Given the description of an element on the screen output the (x, y) to click on. 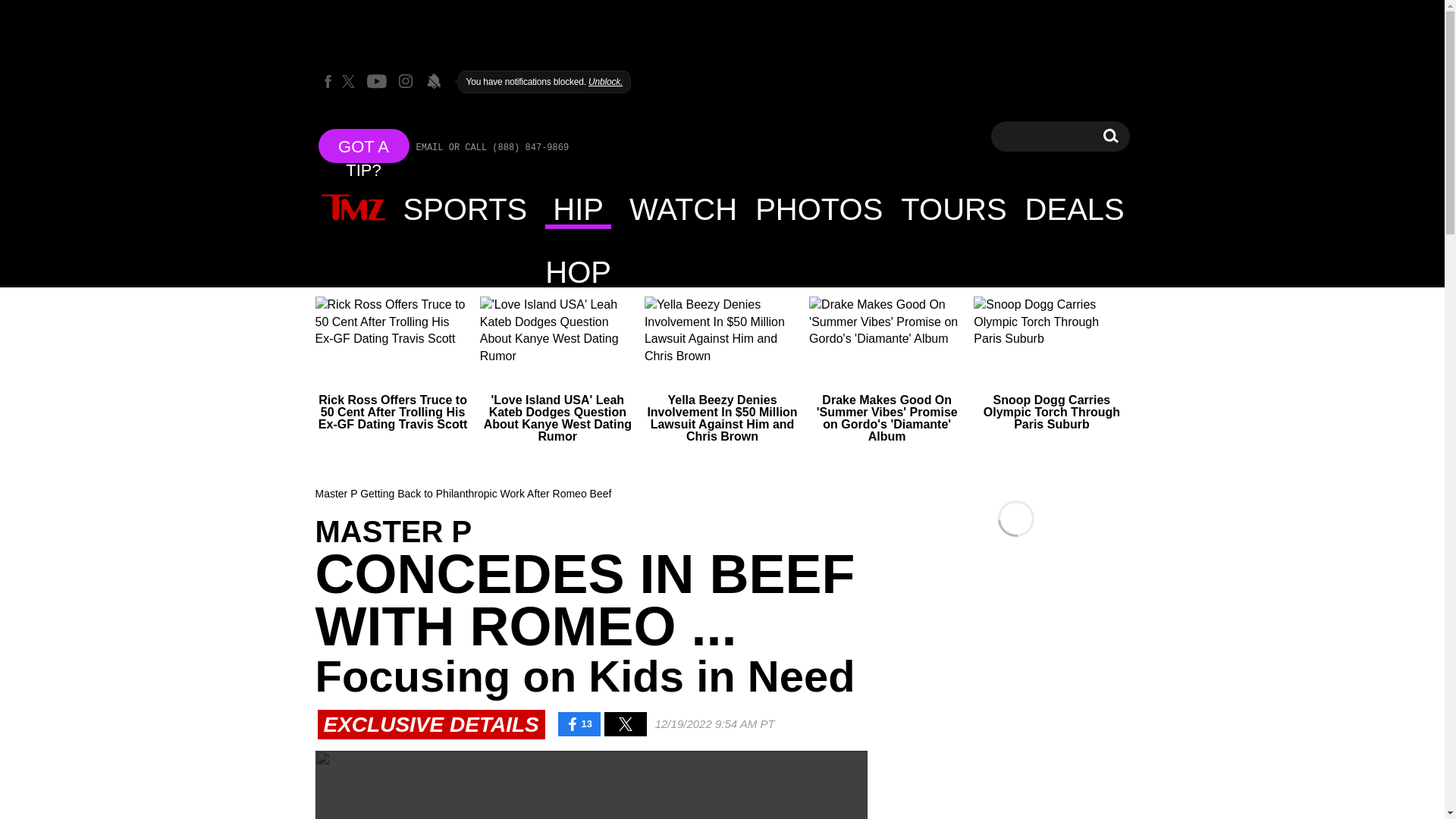
WATCH (682, 208)
GOT A TIP? (363, 145)
TOURS (952, 208)
PHOTOS (818, 208)
Search (1110, 135)
DEALS (1075, 208)
SPORTS (465, 208)
You have notifications blocked (434, 80)
HIP HOP (577, 208)
NEWS (1110, 136)
